Given the description of an element on the screen output the (x, y) to click on. 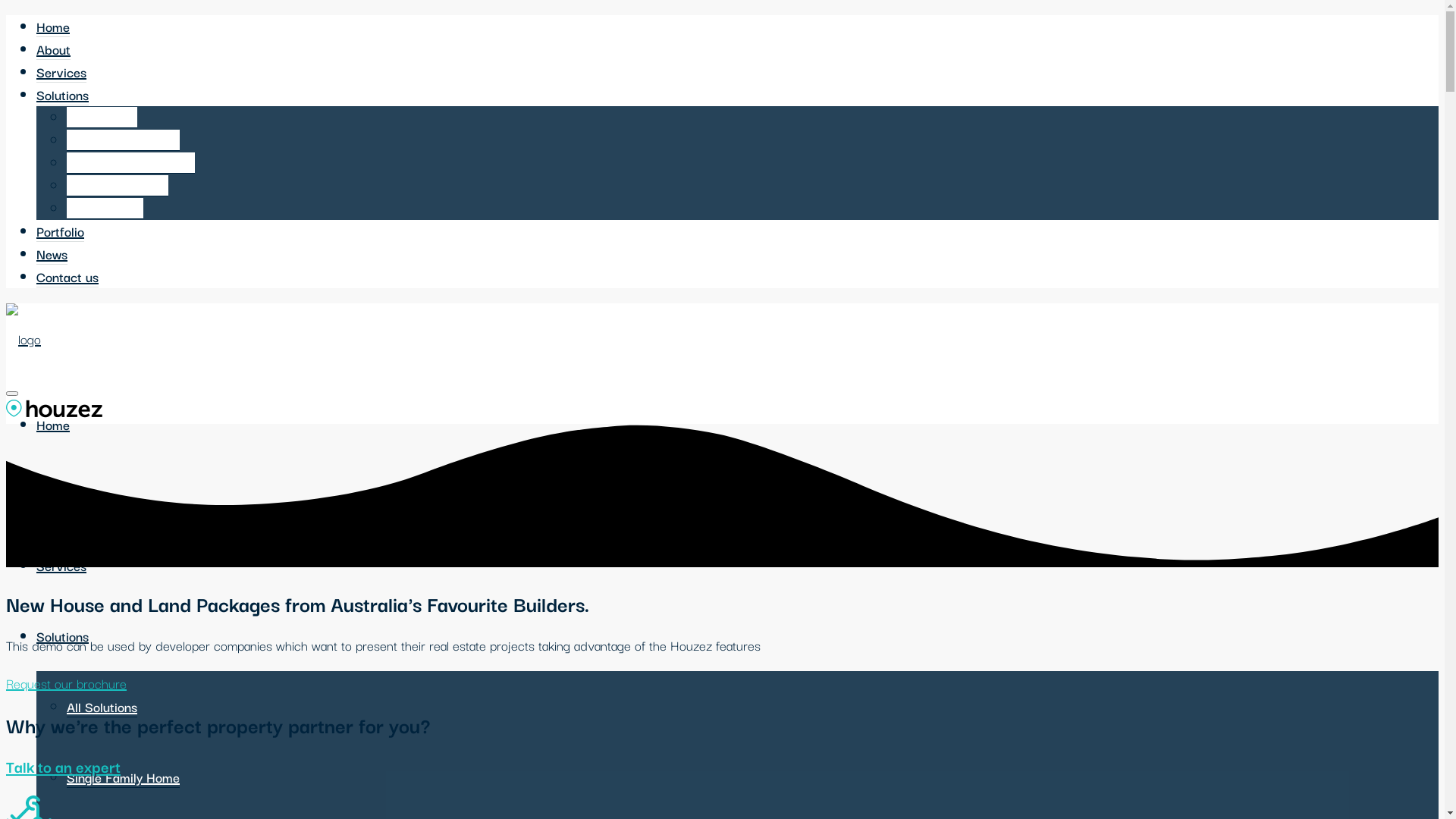
Solutions Element type: text (62, 635)
All Solutions Element type: text (101, 117)
Solutions Element type: text (62, 94)
Single Family Home Element type: text (122, 139)
Single Family Home Element type: text (122, 776)
Contact us Element type: text (67, 276)
Large Luxury Villa Element type: text (117, 185)
Home Element type: text (52, 26)
Request our brochure Element type: text (66, 682)
Services Element type: text (61, 565)
All Solutions Element type: text (101, 706)
Talk to an expert Element type: text (63, 765)
Home Element type: text (52, 424)
Superior Villa Element type: text (104, 208)
About Element type: text (53, 48)
Standard Modern Villa Element type: text (130, 162)
Portfolio Element type: text (60, 230)
About Element type: text (53, 494)
News Element type: text (51, 253)
Services Element type: text (61, 71)
